Given the description of an element on the screen output the (x, y) to click on. 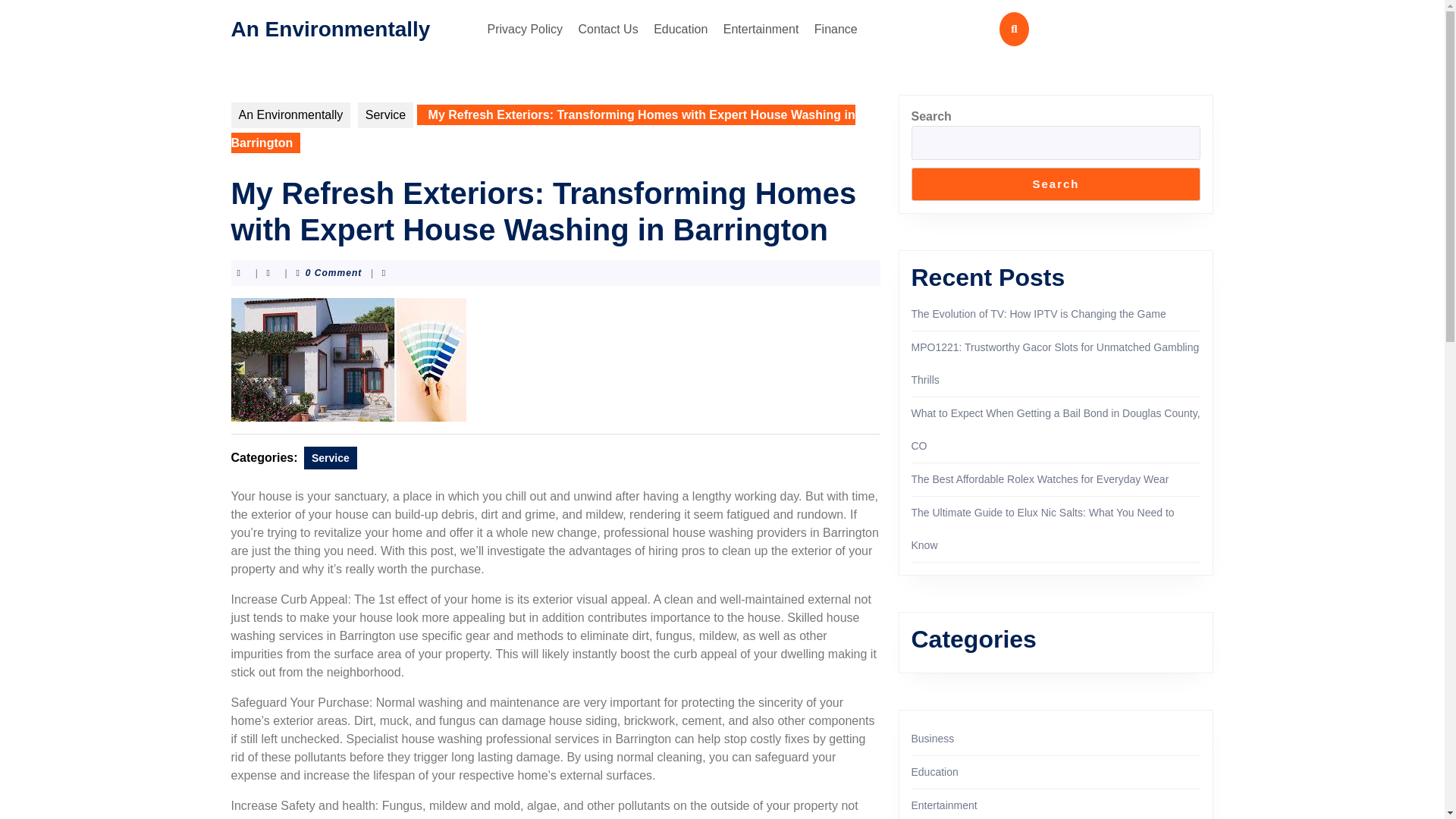
Entertainment (761, 28)
Finance (835, 28)
Privacy Policy (524, 28)
Service (385, 114)
The Evolution of TV: How IPTV is Changing the Game (1038, 313)
The Best Affordable Rolex Watches for Everyday Wear (1040, 479)
Search (1056, 183)
An Environmentally (290, 114)
An Environmentally (329, 28)
